Given the description of an element on the screen output the (x, y) to click on. 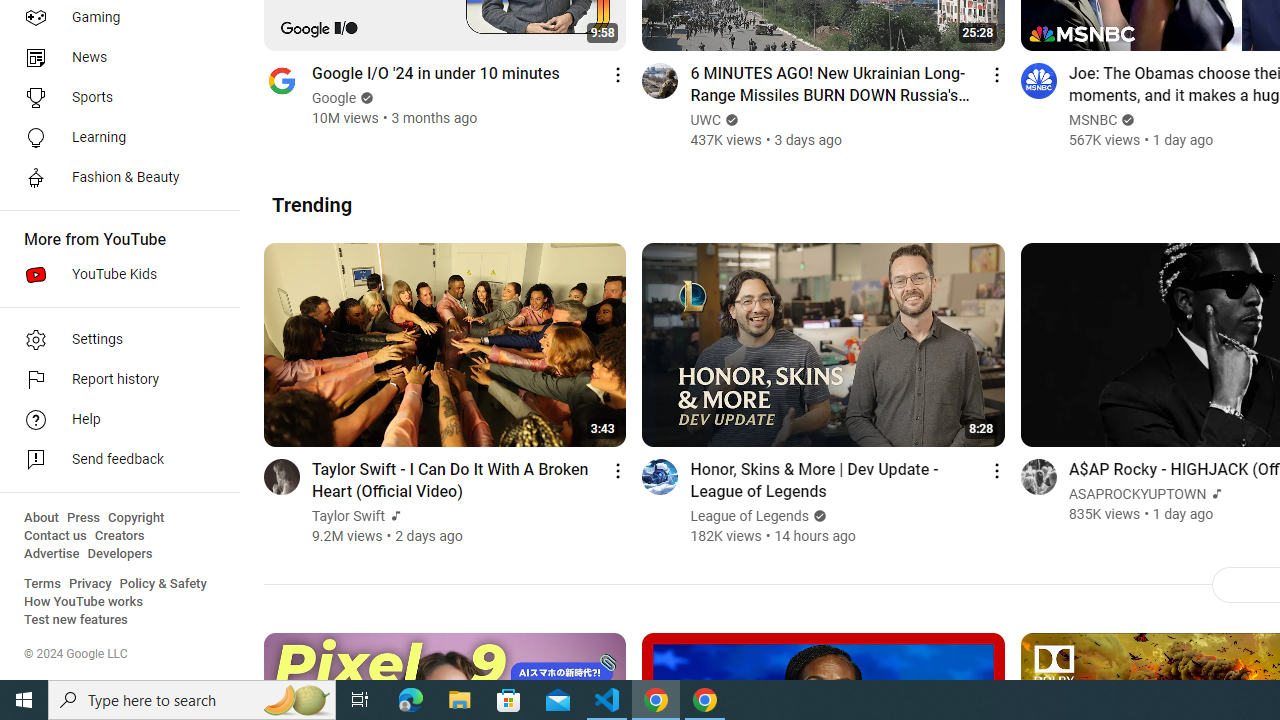
Trending (312, 204)
ASAPROCKYUPTOWN (1137, 493)
Press (83, 518)
Contact us (55, 536)
